Given the description of an element on the screen output the (x, y) to click on. 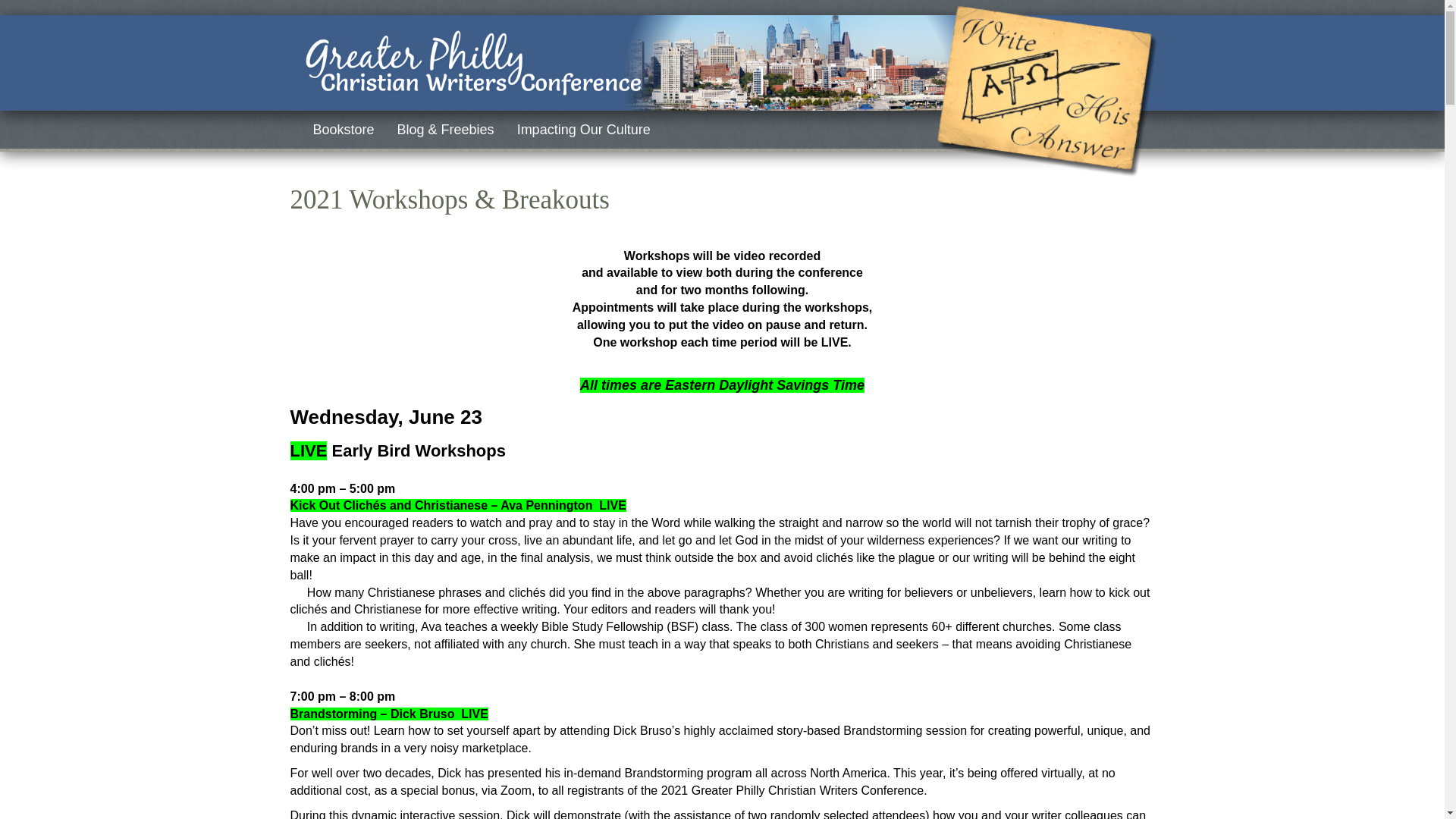
Bookstore (343, 129)
Impacting Our Culture (583, 129)
